Given the description of an element on the screen output the (x, y) to click on. 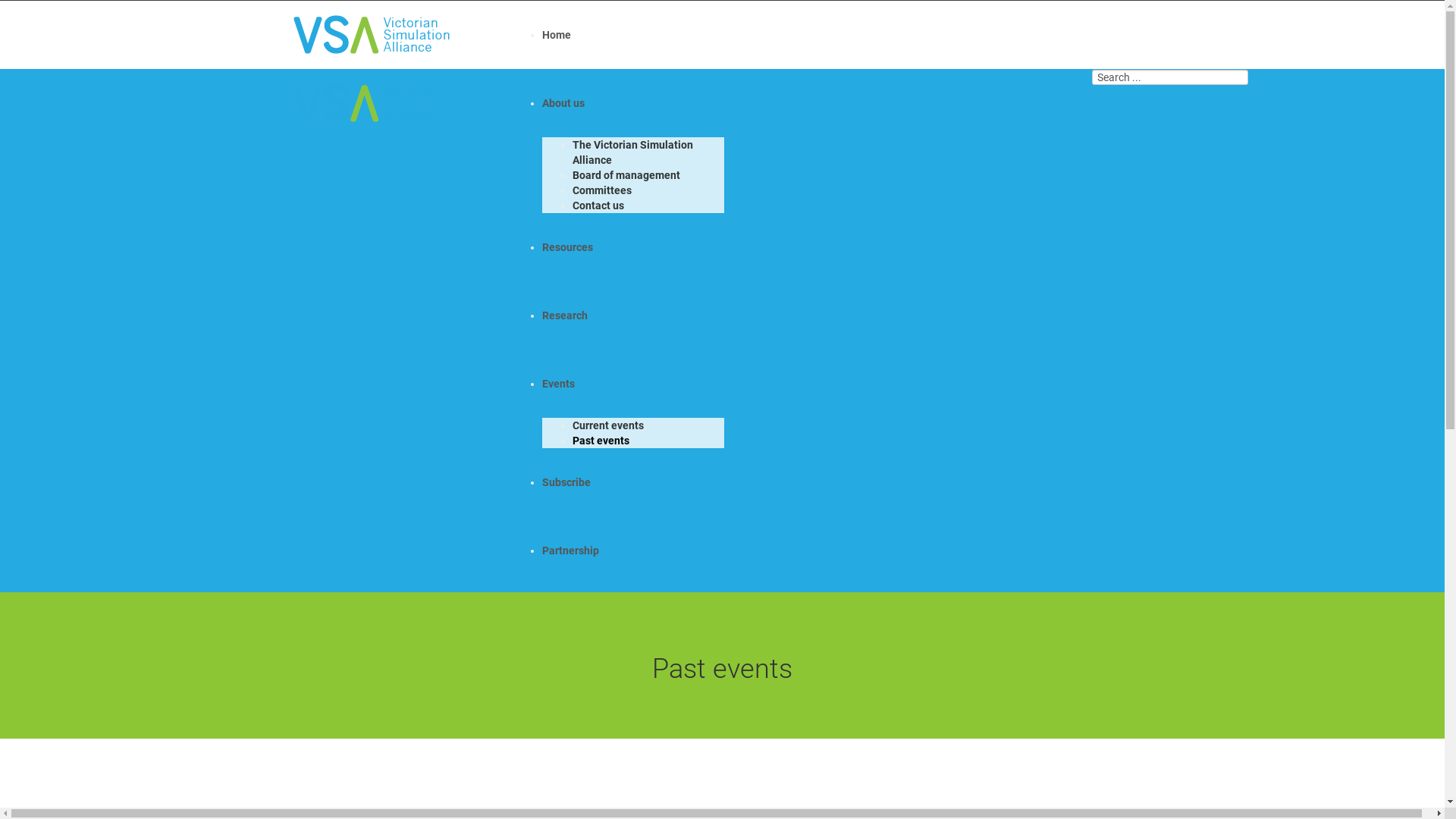
Subscribe Element type: text (566, 482)
Contact us Element type: text (598, 205)
Current events Element type: text (607, 425)
Past events Element type: text (600, 440)
Board of management Element type: text (626, 175)
The Victorian Simulation Alliance Element type: text (632, 152)
Research Element type: text (564, 315)
About us Element type: text (563, 103)
Committees Element type: text (601, 190)
Events Element type: text (558, 383)
Home Element type: text (556, 34)
Resources Element type: text (567, 247)
Partnership Element type: text (570, 550)
